Given the description of an element on the screen output the (x, y) to click on. 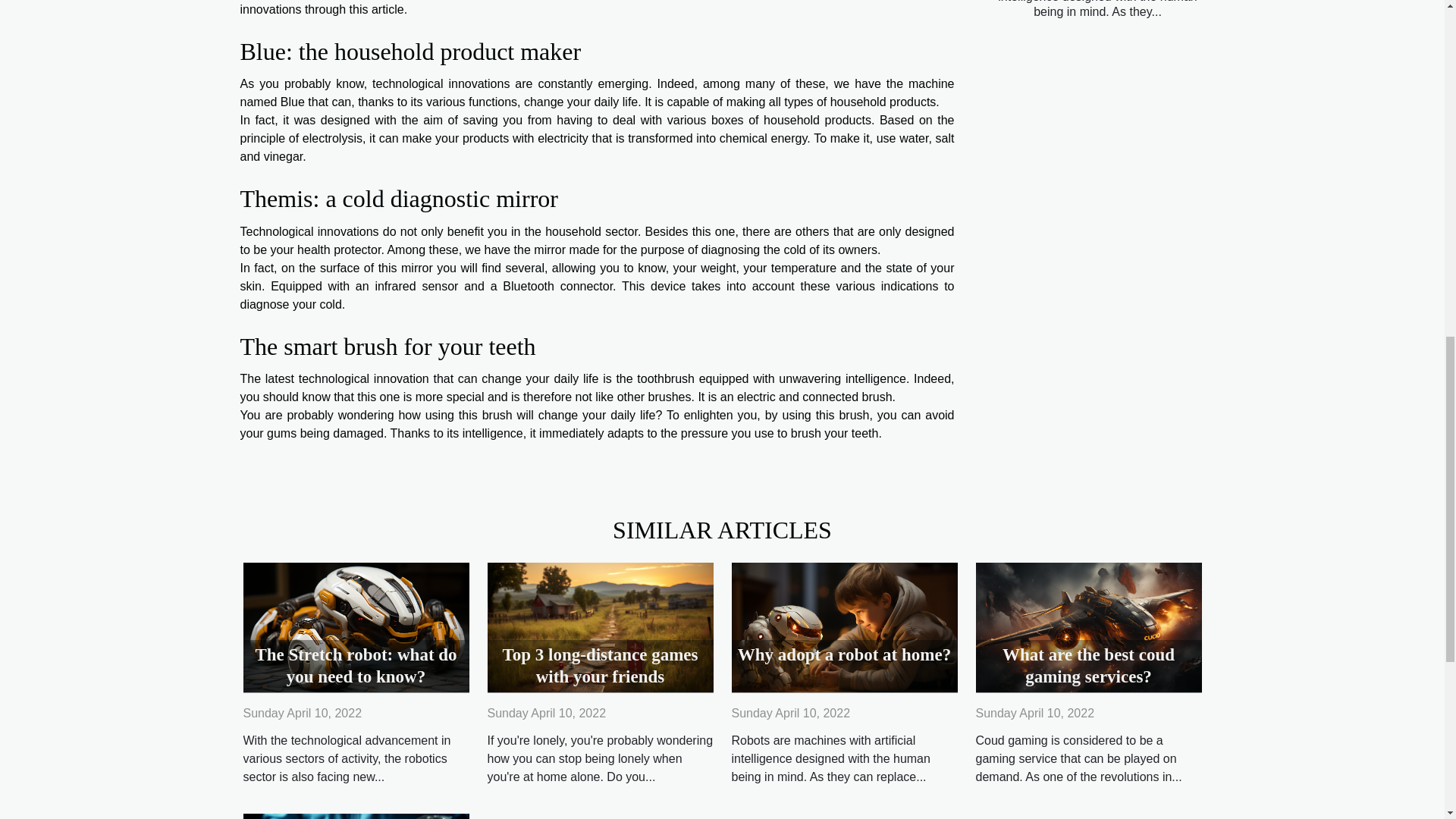
What are the best coud gaming services? (1088, 666)
Why adopt a robot at home? (843, 626)
Top 3 long-distance games with your friends (600, 666)
Why adopt a robot at home? (844, 654)
What are the best coud gaming services? (1088, 666)
Top 3 long-distance games with your friends (600, 666)
The Stretch robot: what do you need to know? (355, 626)
The Stretch robot: what do you need to know? (355, 666)
What are the best coud gaming services? (1088, 626)
Top 3 long-distance games with your friends (599, 626)
